Given the description of an element on the screen output the (x, y) to click on. 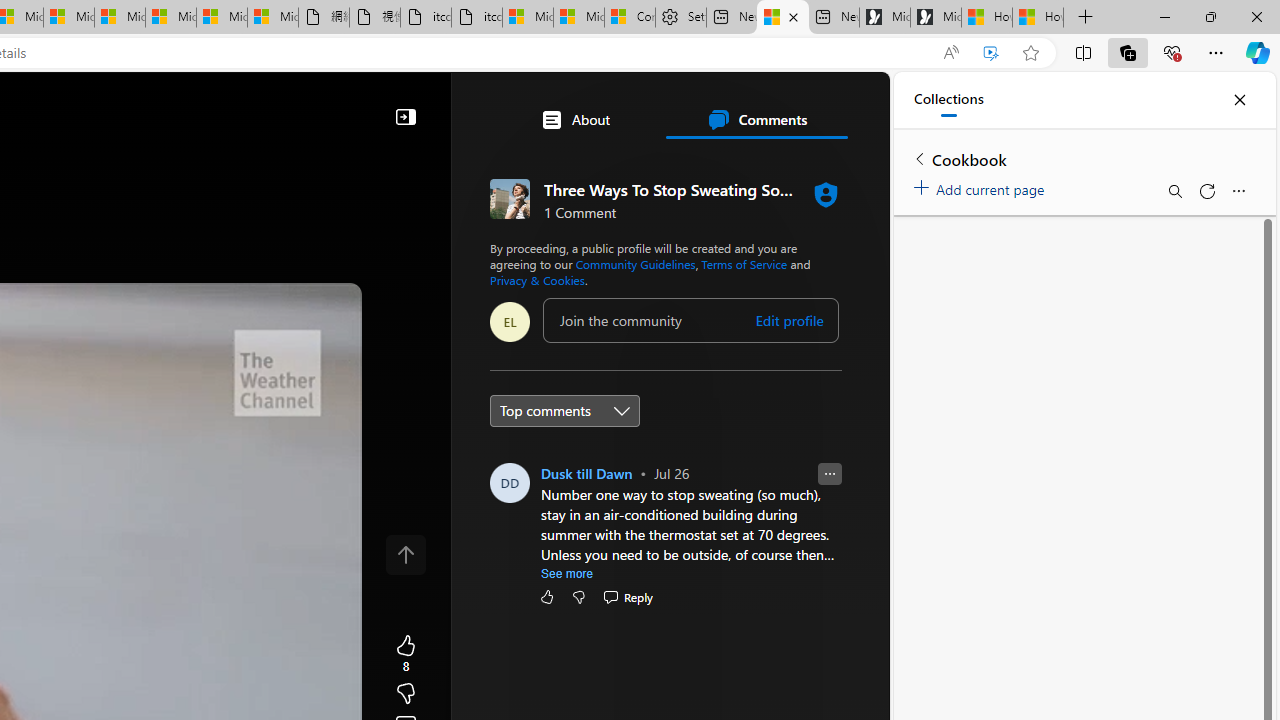
Back to list of collections (920, 158)
Personalize (517, 162)
The Wall Street Journal (584, 645)
itconcepthk.com/projector_solutions.mp4 (476, 17)
Consumer Health Data Privacy Policy (630, 17)
Report comment (829, 473)
Class: control icon-only (406, 554)
Reuters (584, 557)
Comments (756, 119)
Enhance video (991, 53)
See more (567, 573)
Privacy & Cookies (537, 280)
